Given the description of an element on the screen output the (x, y) to click on. 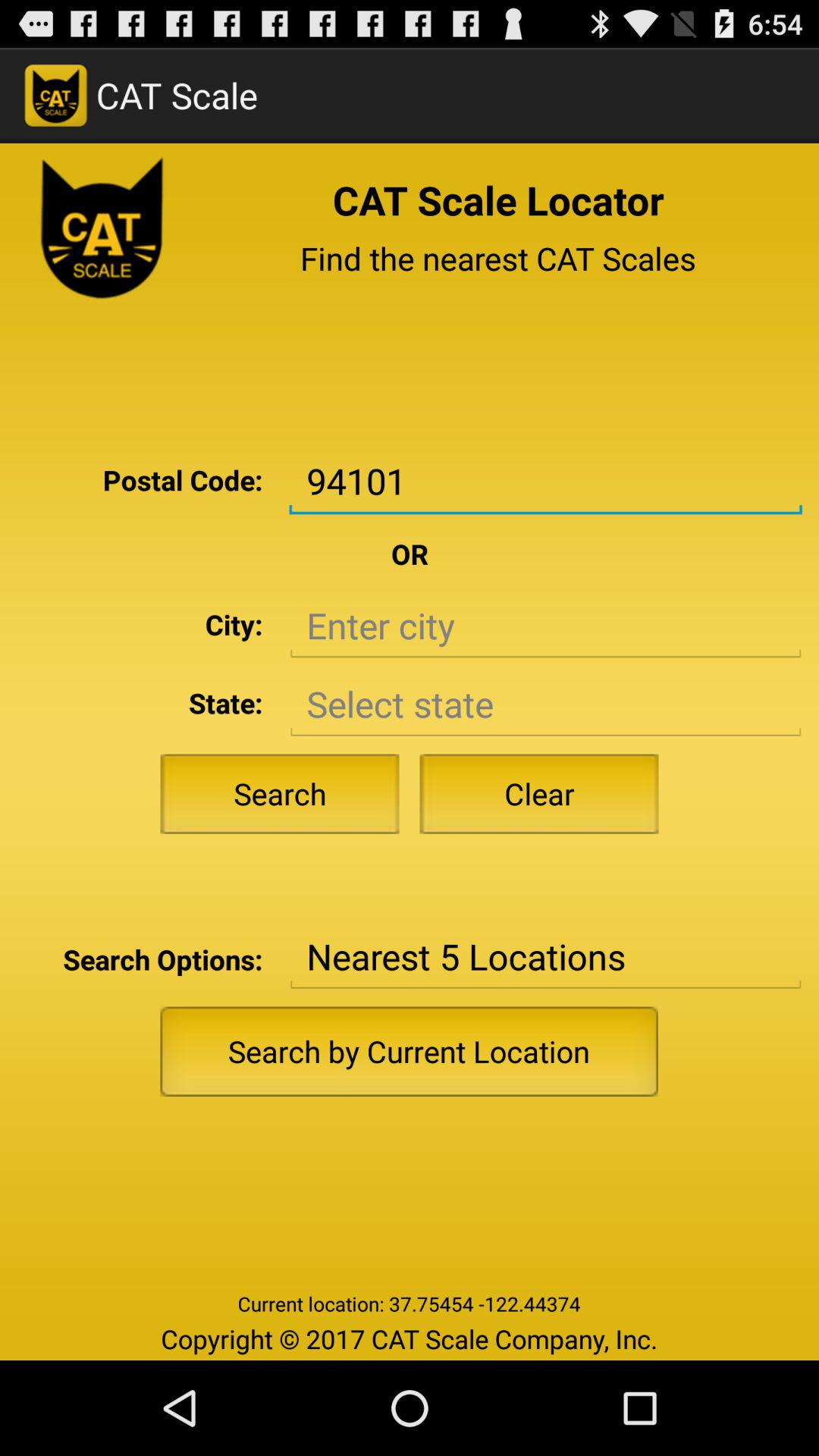
text field (545, 625)
